Given the description of an element on the screen output the (x, y) to click on. 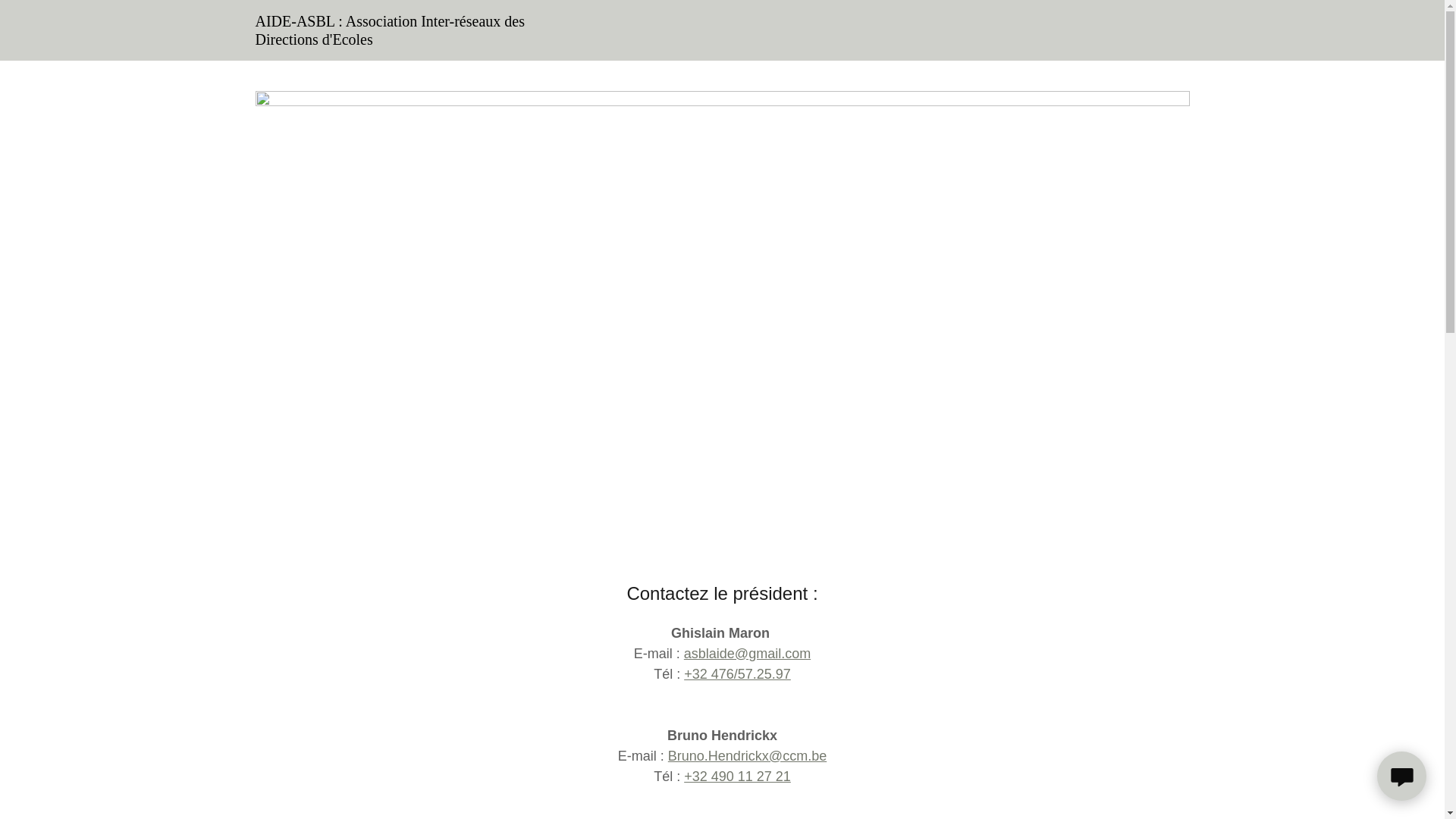
+32 490 11 27 21 Element type: text (737, 776)
asblaide@gmail.com Element type: text (747, 653)
+32 476/57.25.97 Element type: text (737, 673)
Bruno.Hendrickx@ccm.be Element type: text (747, 755)
